Given the description of an element on the screen output the (x, y) to click on. 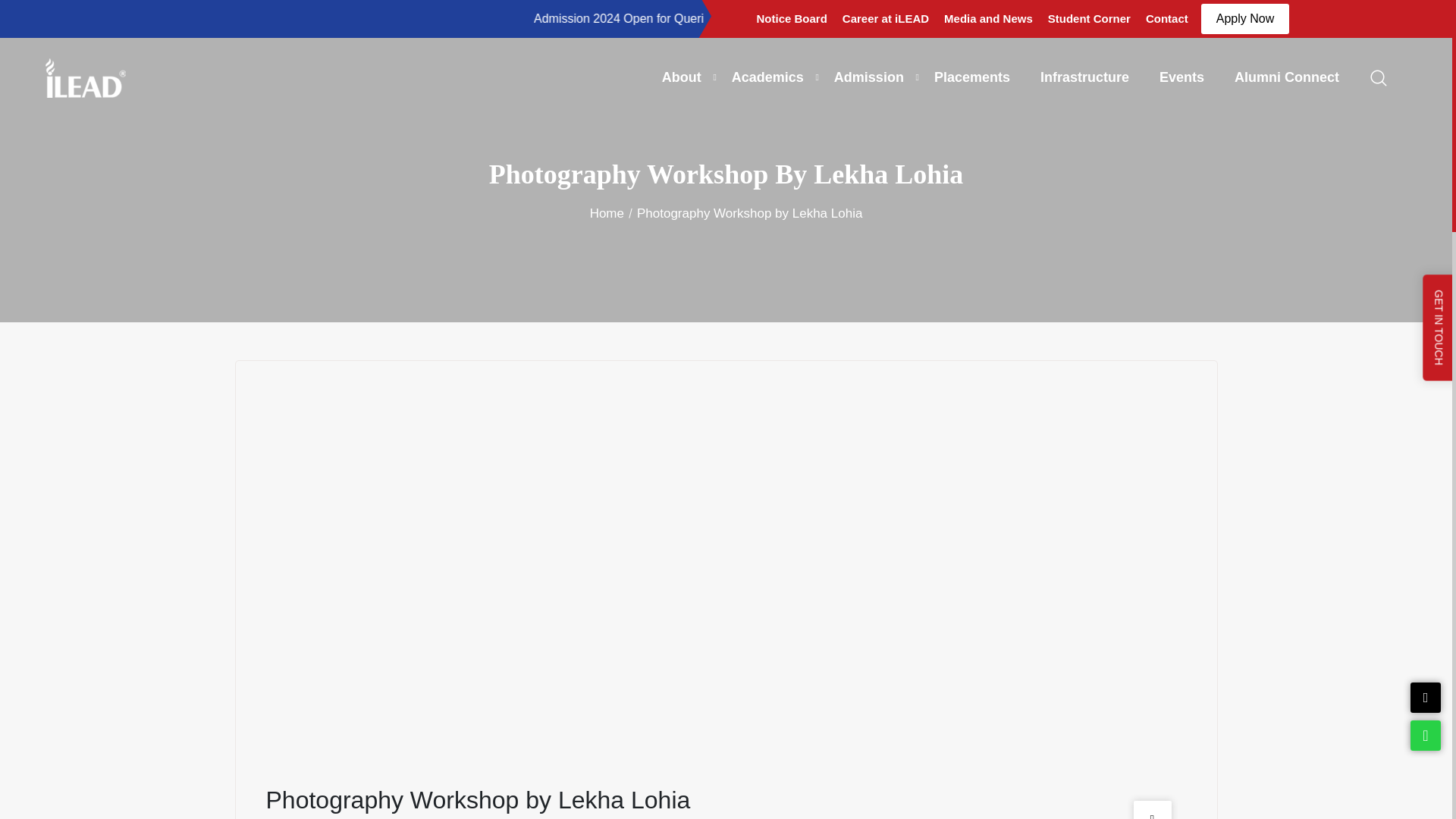
Media and News (988, 18)
Career at iLEAD (885, 18)
Student Corner (1089, 18)
Academics (767, 77)
Contact (1166, 18)
Notice Board (791, 18)
LogoH1 (85, 77)
Apply Now (1244, 19)
About (681, 77)
